Given the description of an element on the screen output the (x, y) to click on. 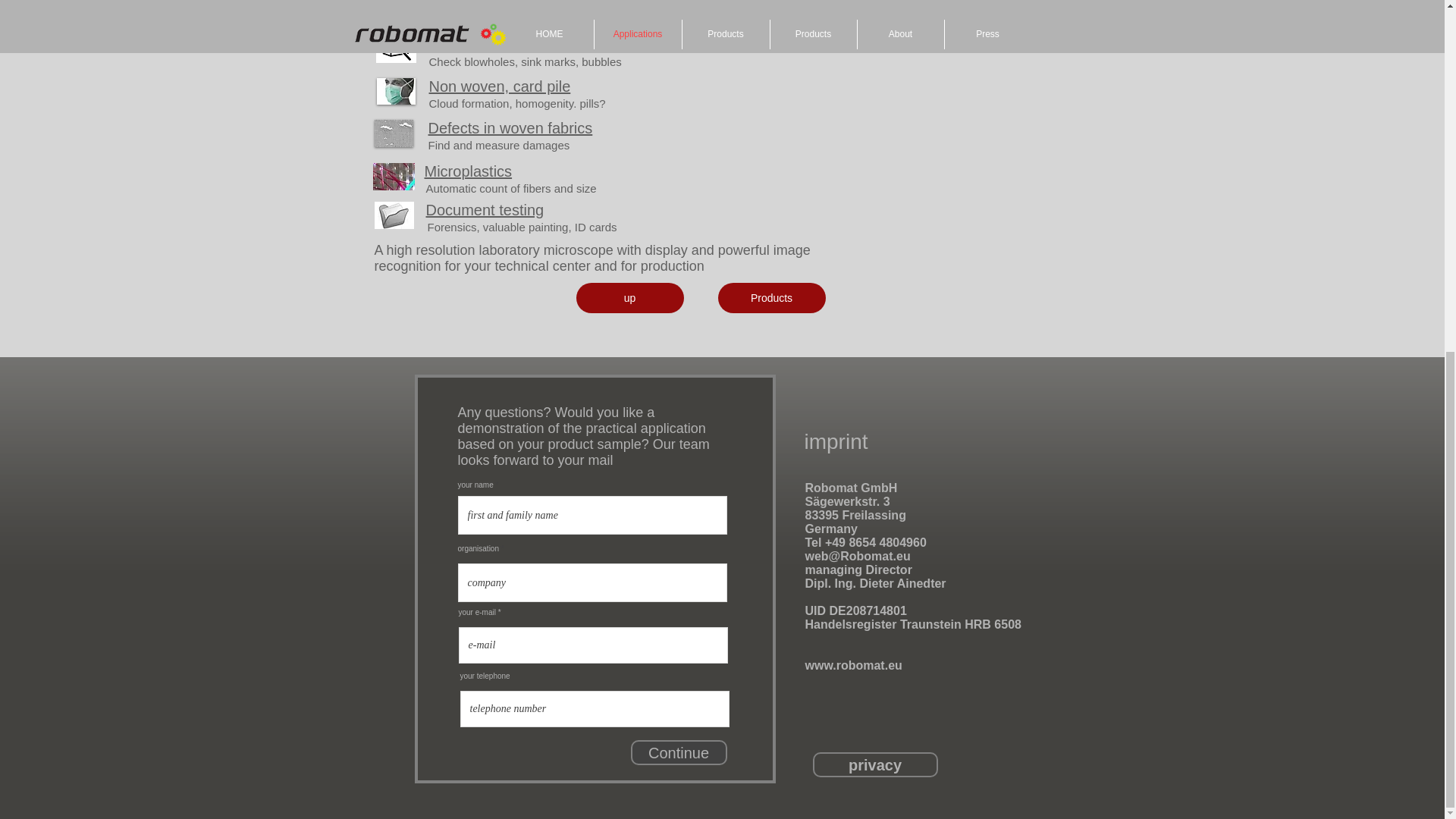
microplastic.jpg (393, 176)
Cellulose.jpg (393, 12)
Document.jpg (393, 215)
cutting test.jpg (395, 49)
